Given the description of an element on the screen output the (x, y) to click on. 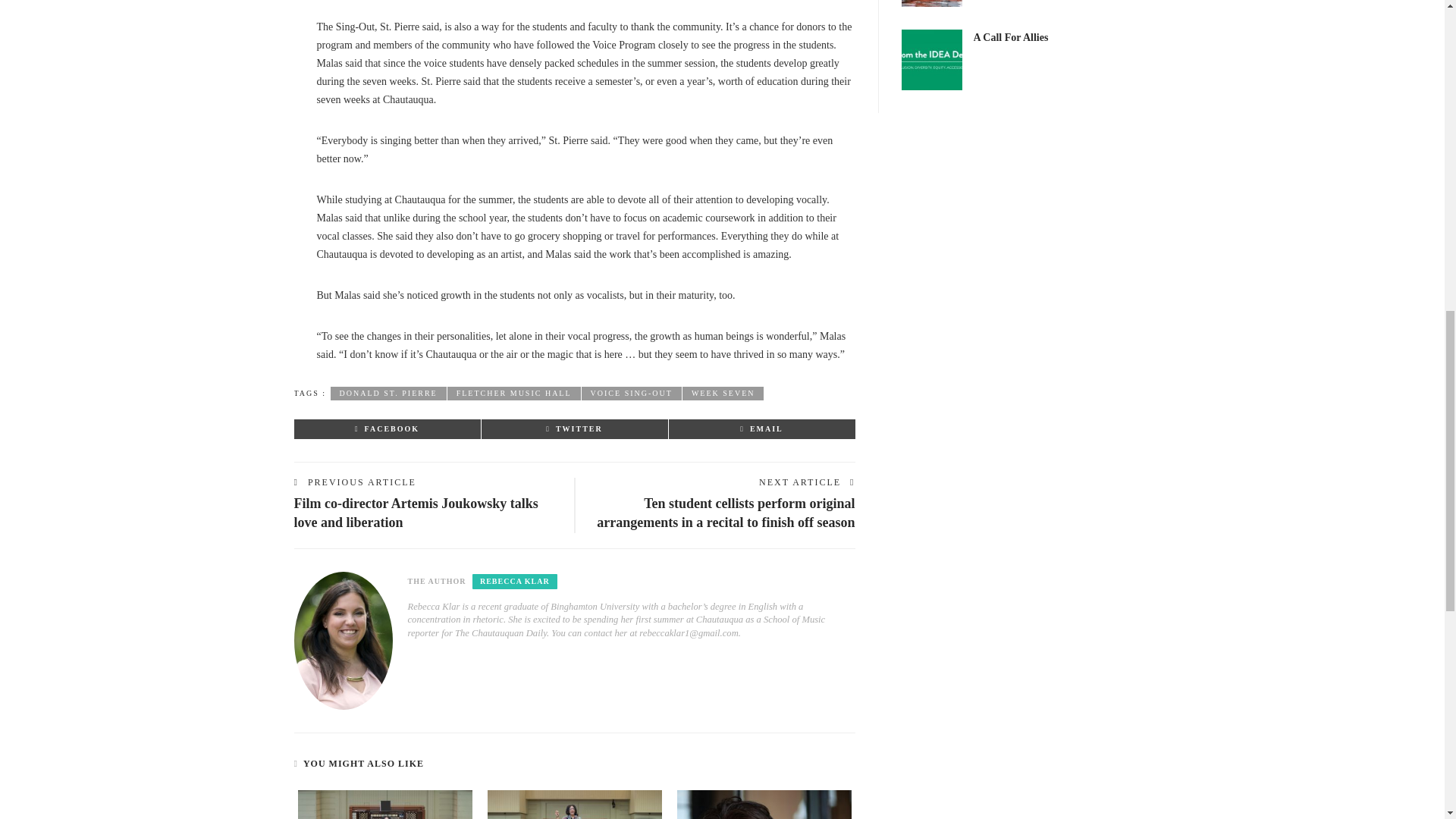
Film co-director Artemis Joukowsky talks love and liberation (416, 512)
Week Seven (723, 393)
Fletcher Music Hall (513, 393)
voice sing-out (630, 393)
Donald St. Pierre (388, 393)
